Given the description of an element on the screen output the (x, y) to click on. 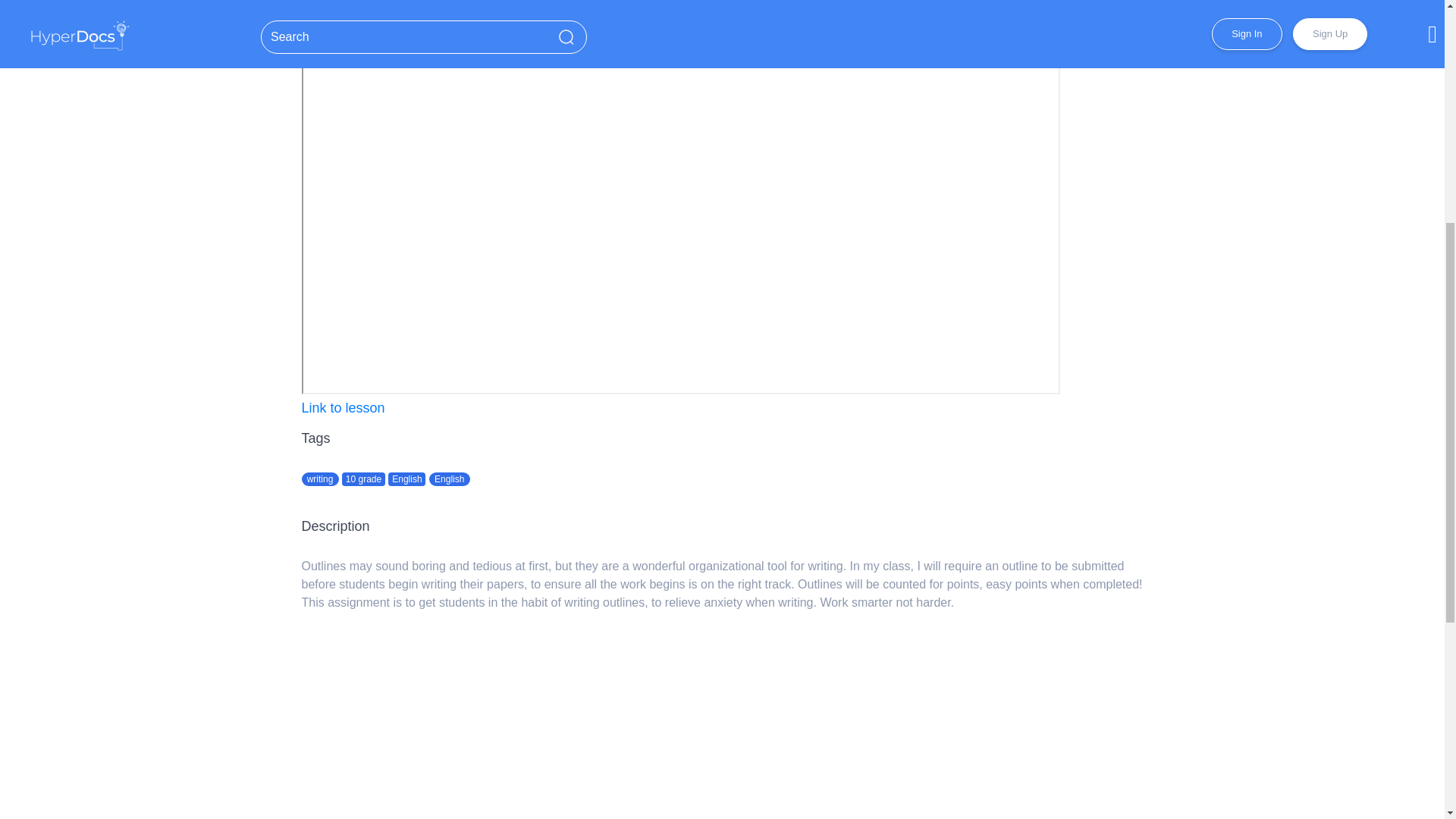
Link to lesson (343, 407)
writing (320, 479)
